Given the description of an element on the screen output the (x, y) to click on. 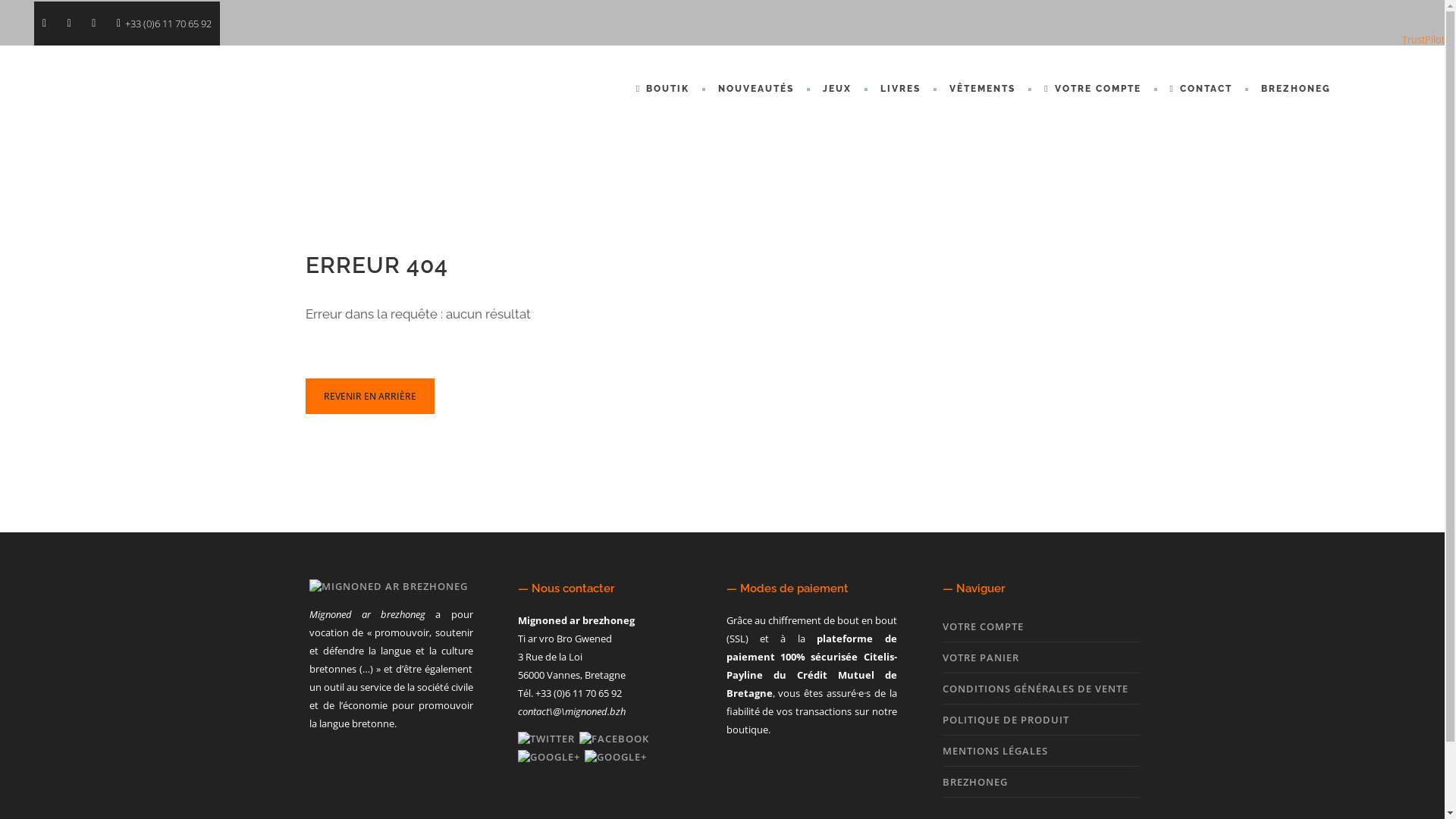
LIVRES Element type: text (900, 88)
POLITIQUE DE PRODUIT Element type: text (1004, 719)
+33 (0)6 11 70 65 92 Element type: text (163, 23)
JEUX Element type: text (837, 88)
BOUTIK Element type: text (662, 88)
TrustPilot Element type: text (1423, 39)
VOTRE COMPTE Element type: text (1091, 88)
CONTACT Element type: text (1200, 88)
VOTRE COMPTE Element type: text (981, 626)
BREZHONEG Element type: text (1295, 88)
BREZHONEG Element type: text (974, 781)
VOTRE PANIER Element type: text (979, 657)
